Given the description of an element on the screen output the (x, y) to click on. 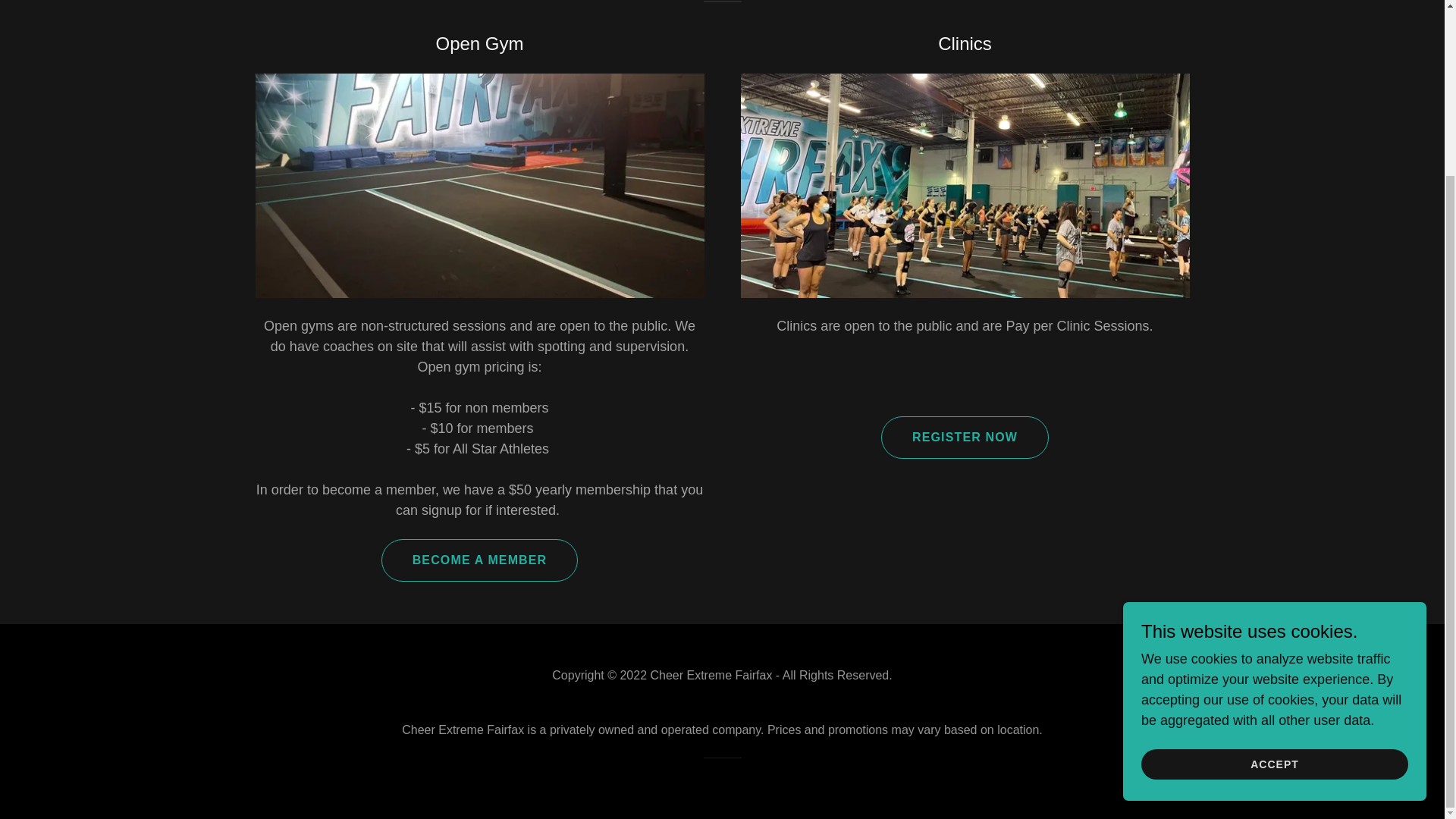
REGISTER NOW (964, 437)
ACCEPT (1274, 550)
BECOME A MEMBER (479, 559)
